Given the description of an element on the screen output the (x, y) to click on. 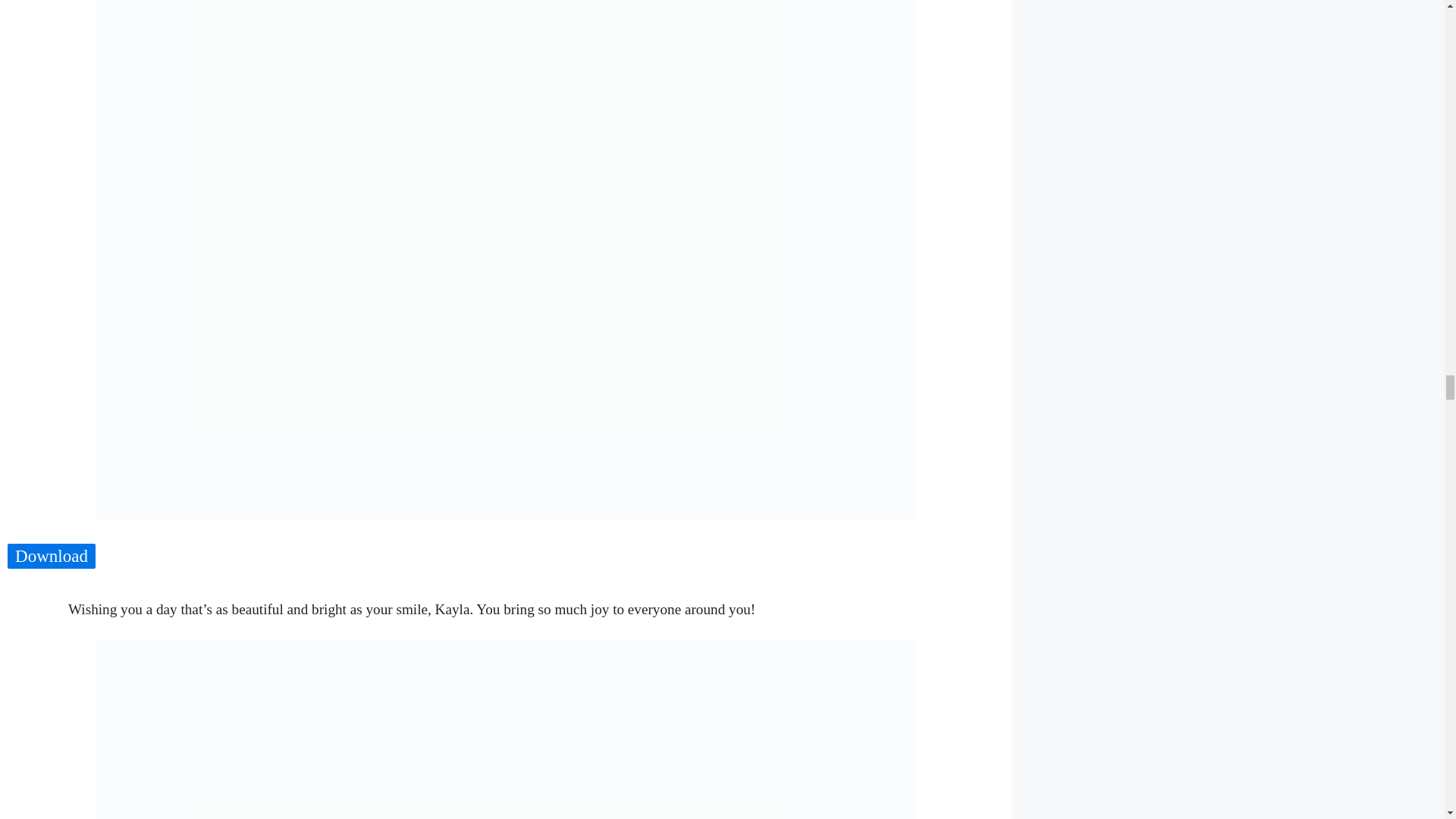
Download (51, 556)
Download (51, 555)
